Given the description of an element on the screen output the (x, y) to click on. 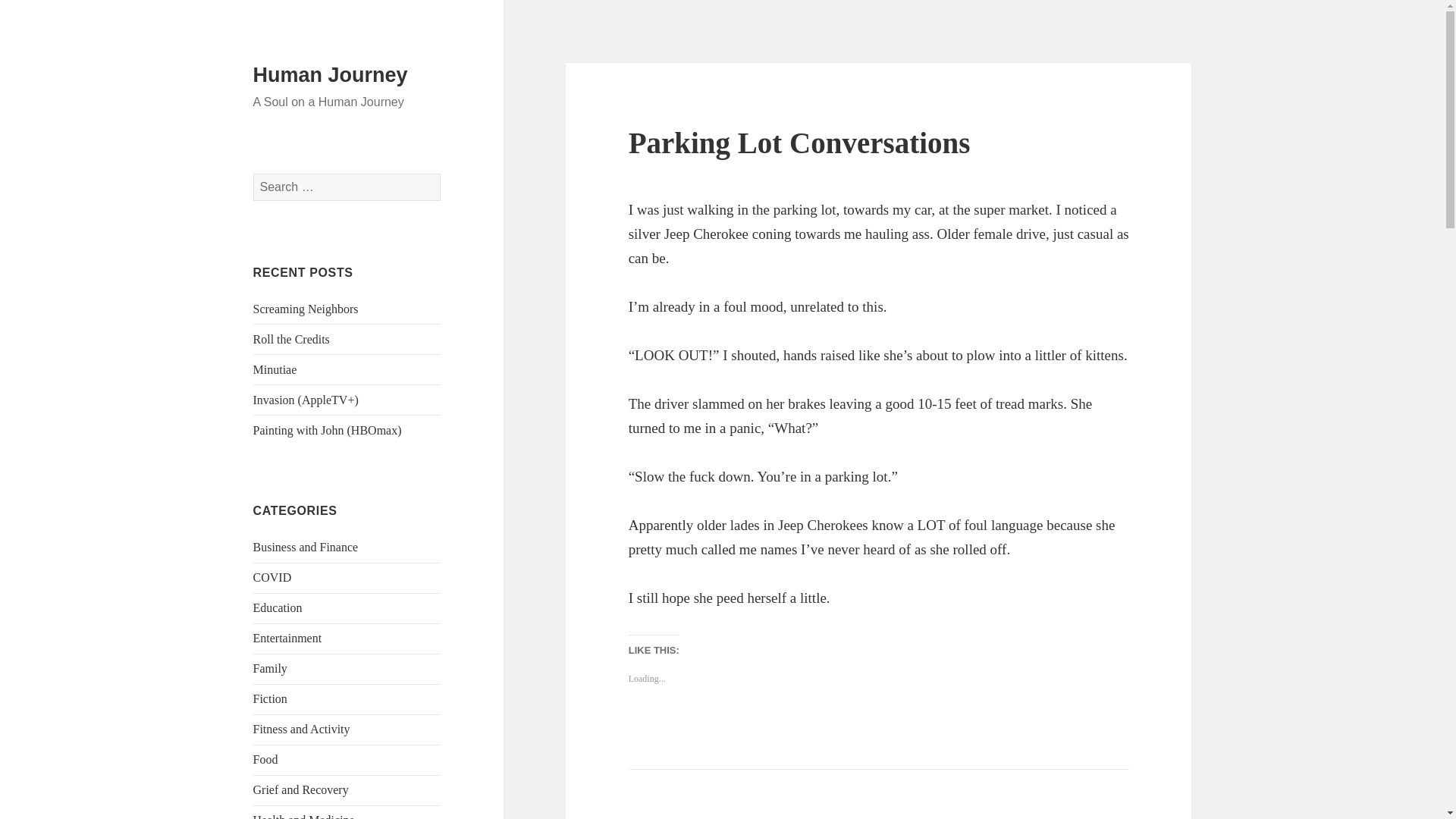
Grief and Recovery (301, 789)
Fitness and Activity (301, 728)
Minutiae (275, 369)
Health and Medicine (304, 816)
Business and Finance (305, 546)
Family (269, 667)
Education (277, 607)
Food (265, 758)
Entertainment (287, 637)
Roll the Credits (291, 338)
Fiction (269, 698)
Human Journey (330, 74)
